Given the description of an element on the screen output the (x, y) to click on. 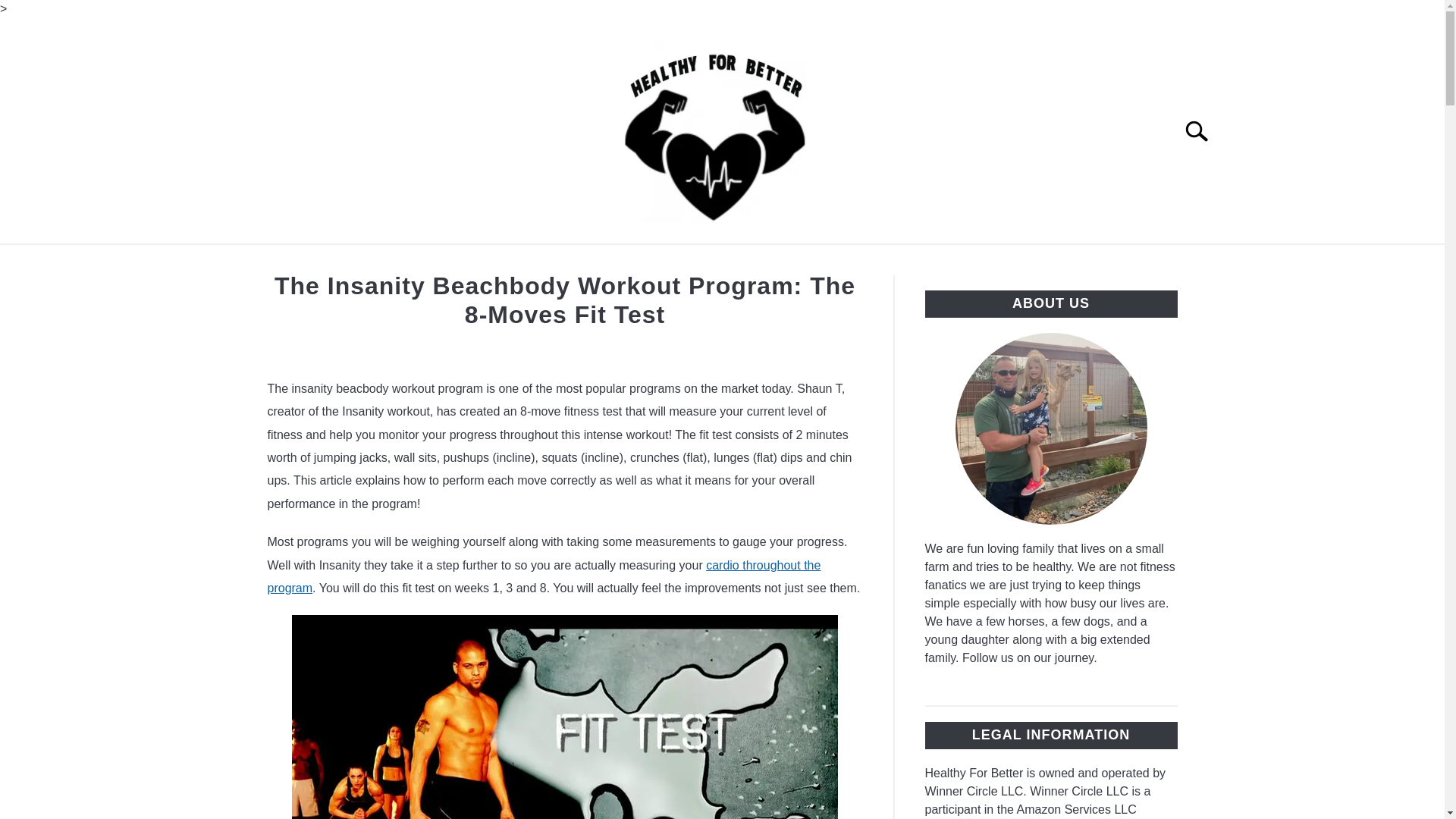
ABOUT (410, 262)
cardio throughout the program (543, 576)
BEACHBODY COACH (844, 262)
PRIVACY POLICY (999, 262)
Search (1203, 131)
PROGRAM GUIDES (622, 262)
FAQ (730, 262)
CONTACT (497, 262)
